Given the description of an element on the screen output the (x, y) to click on. 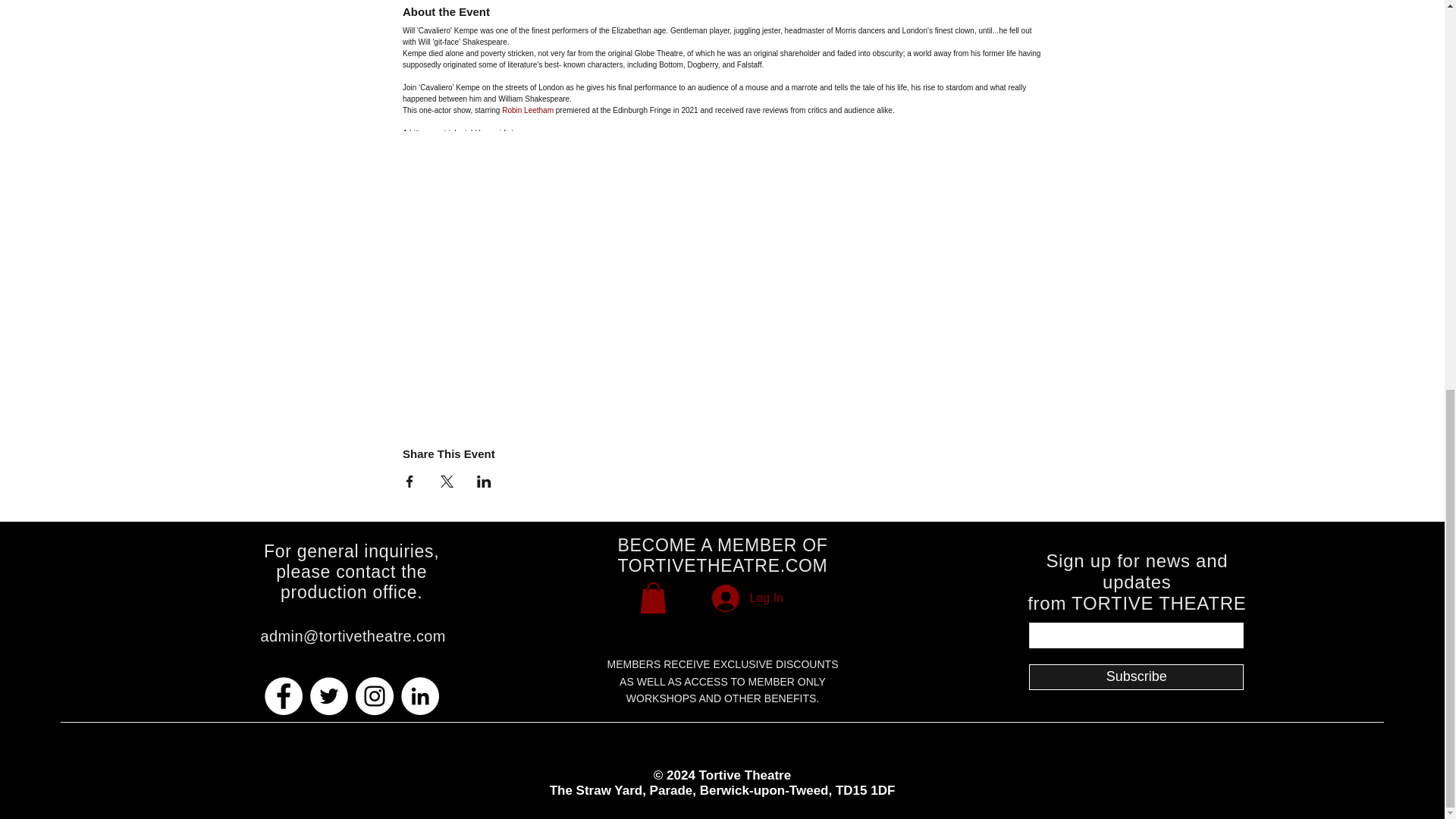
Subscribe (1136, 677)
Log In (747, 597)
Robin Leetham (527, 110)
